Given the description of an element on the screen output the (x, y) to click on. 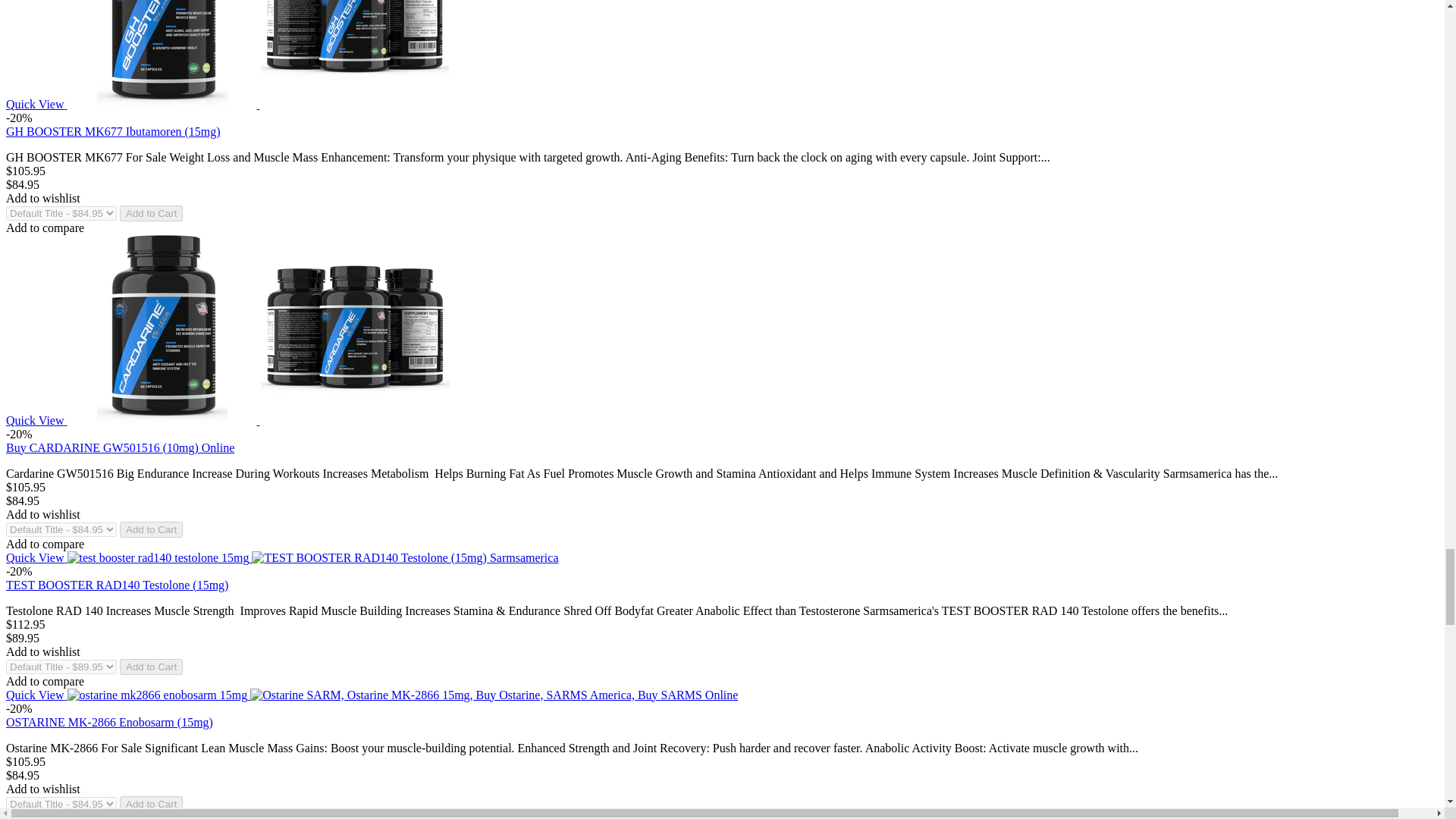
Add to wishlist (42, 197)
